Given the description of an element on the screen output the (x, y) to click on. 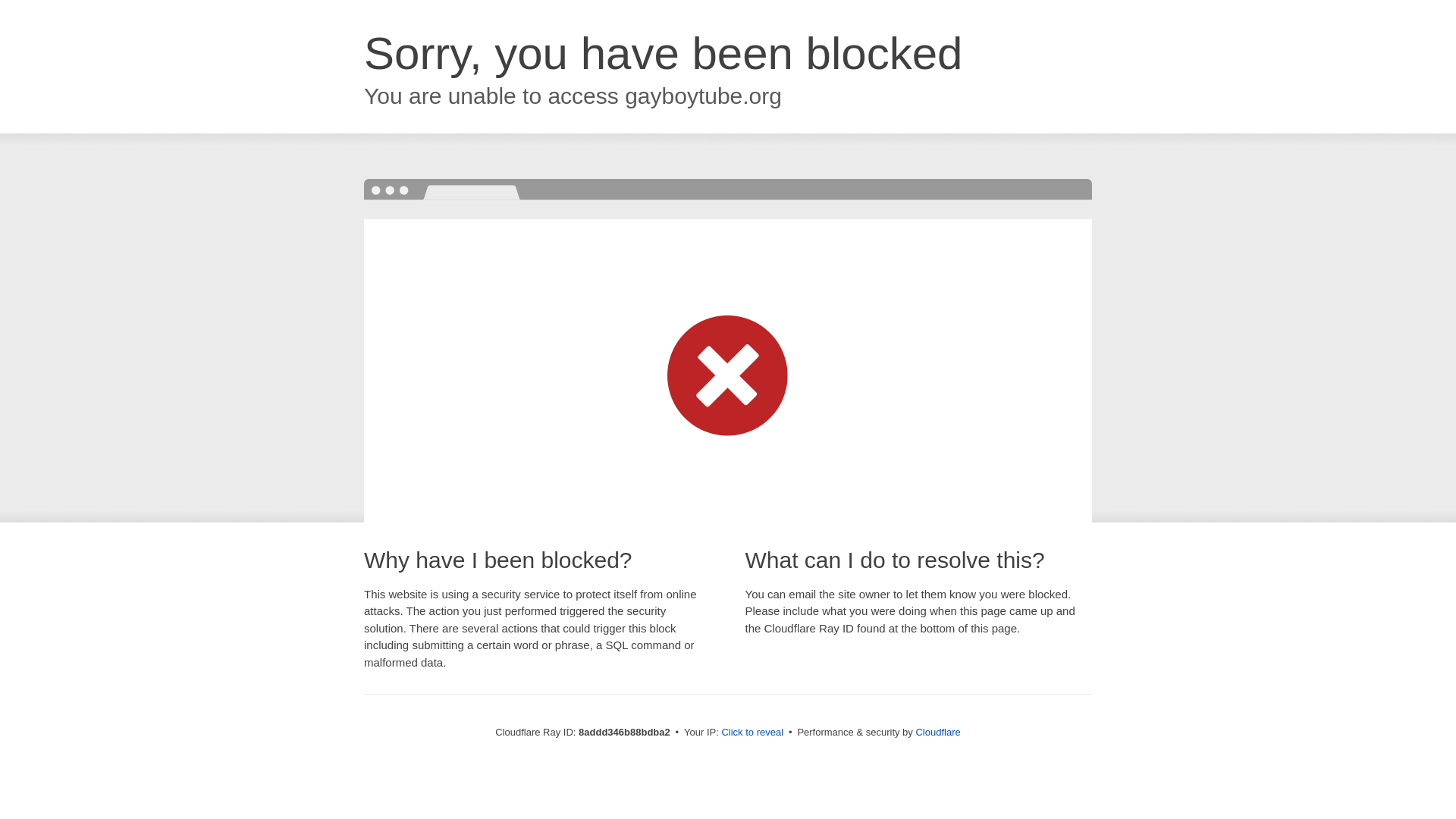
Cloudflare (937, 731)
Click to reveal (751, 732)
